Given the description of an element on the screen output the (x, y) to click on. 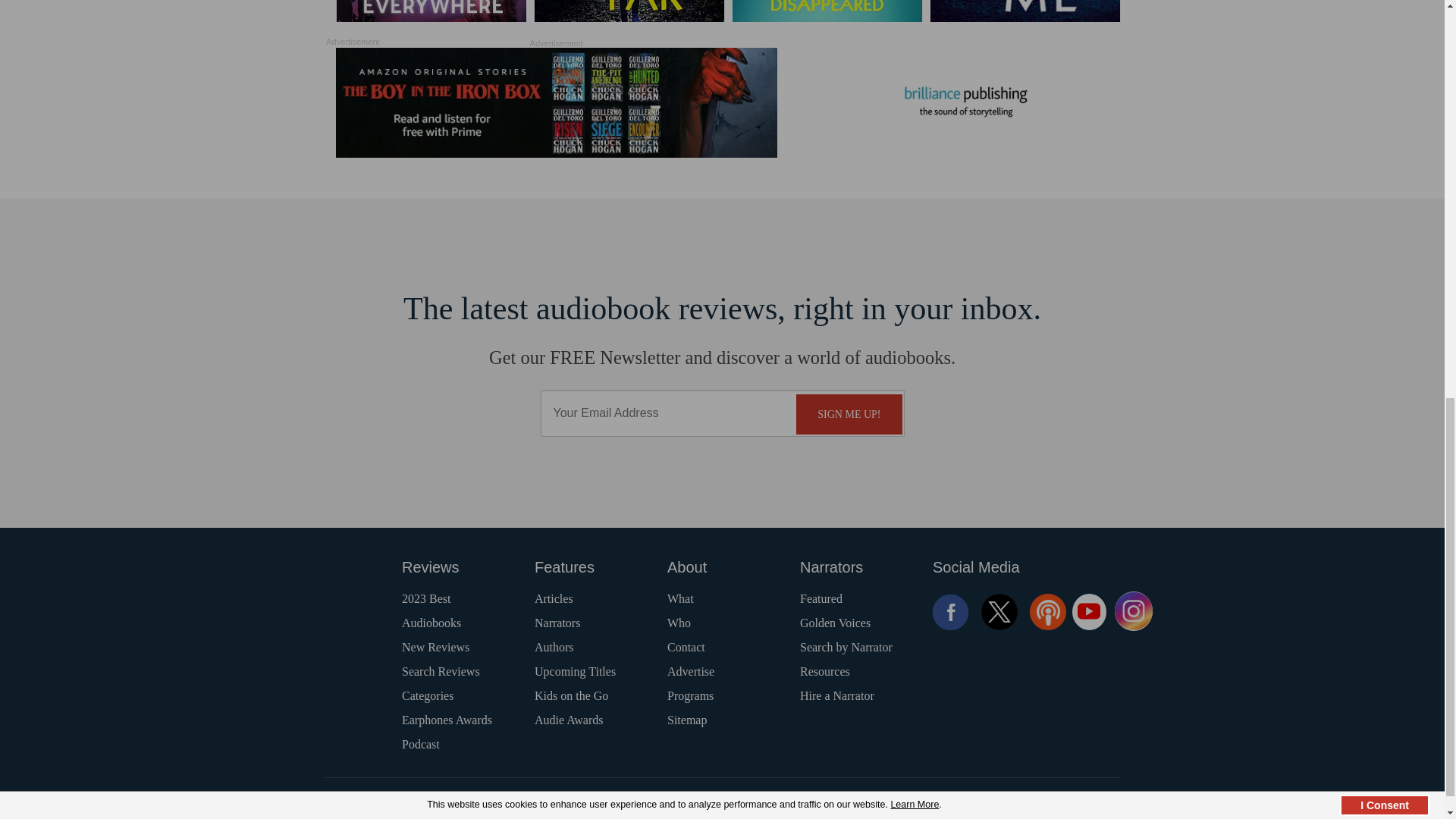
Twitter (999, 611)
Facebook (951, 611)
Podcast (1047, 611)
YouTube (1088, 611)
Sign Me Up! (848, 413)
Instagram (1134, 611)
